Given the description of an element on the screen output the (x, y) to click on. 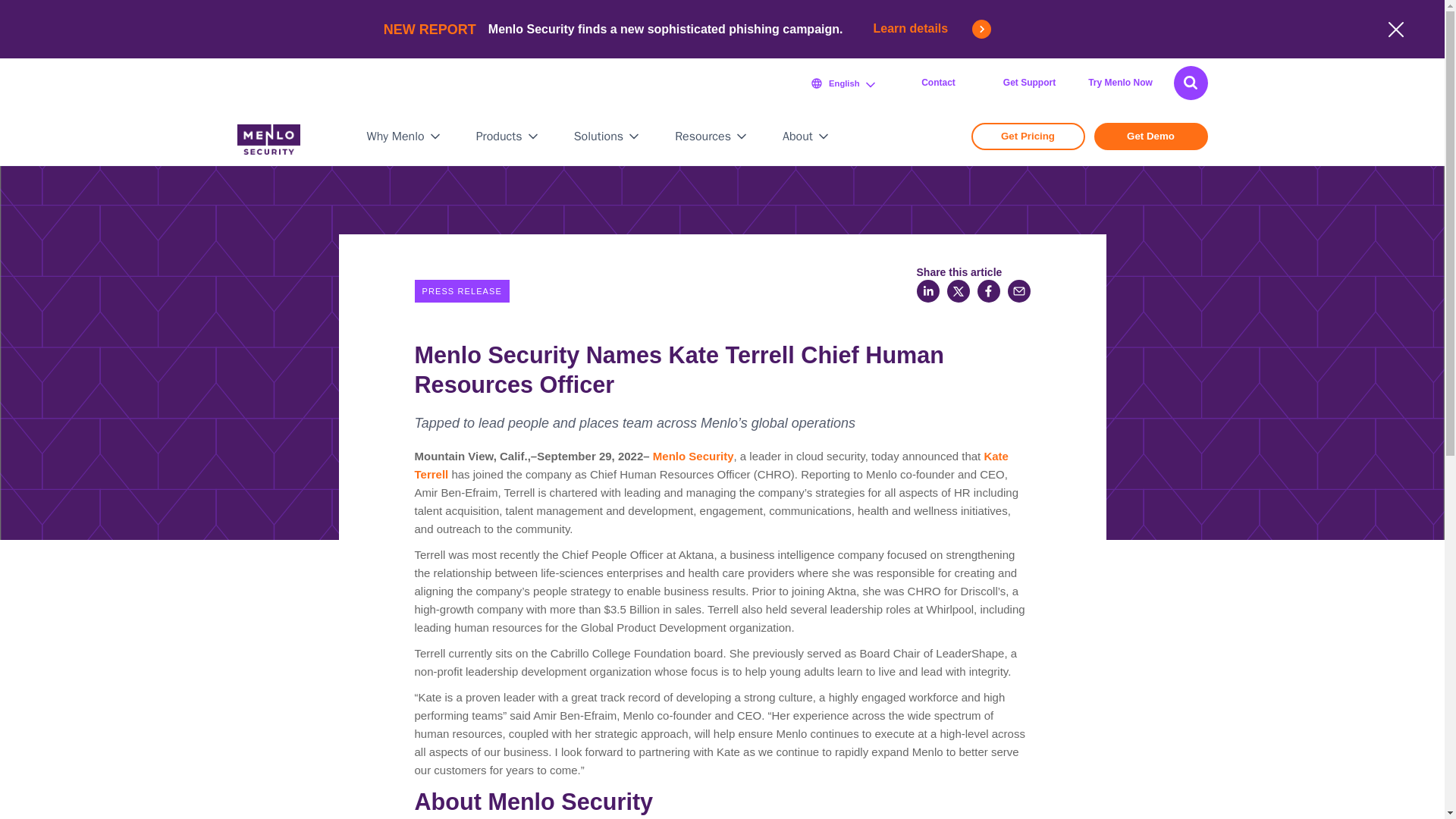
. (1190, 82)
Learn details (933, 28)
. (1190, 82)
Get Support (1028, 82)
Try Menlo Now (1119, 82)
Contact (937, 82)
. (1190, 82)
